Given the description of an element on the screen output the (x, y) to click on. 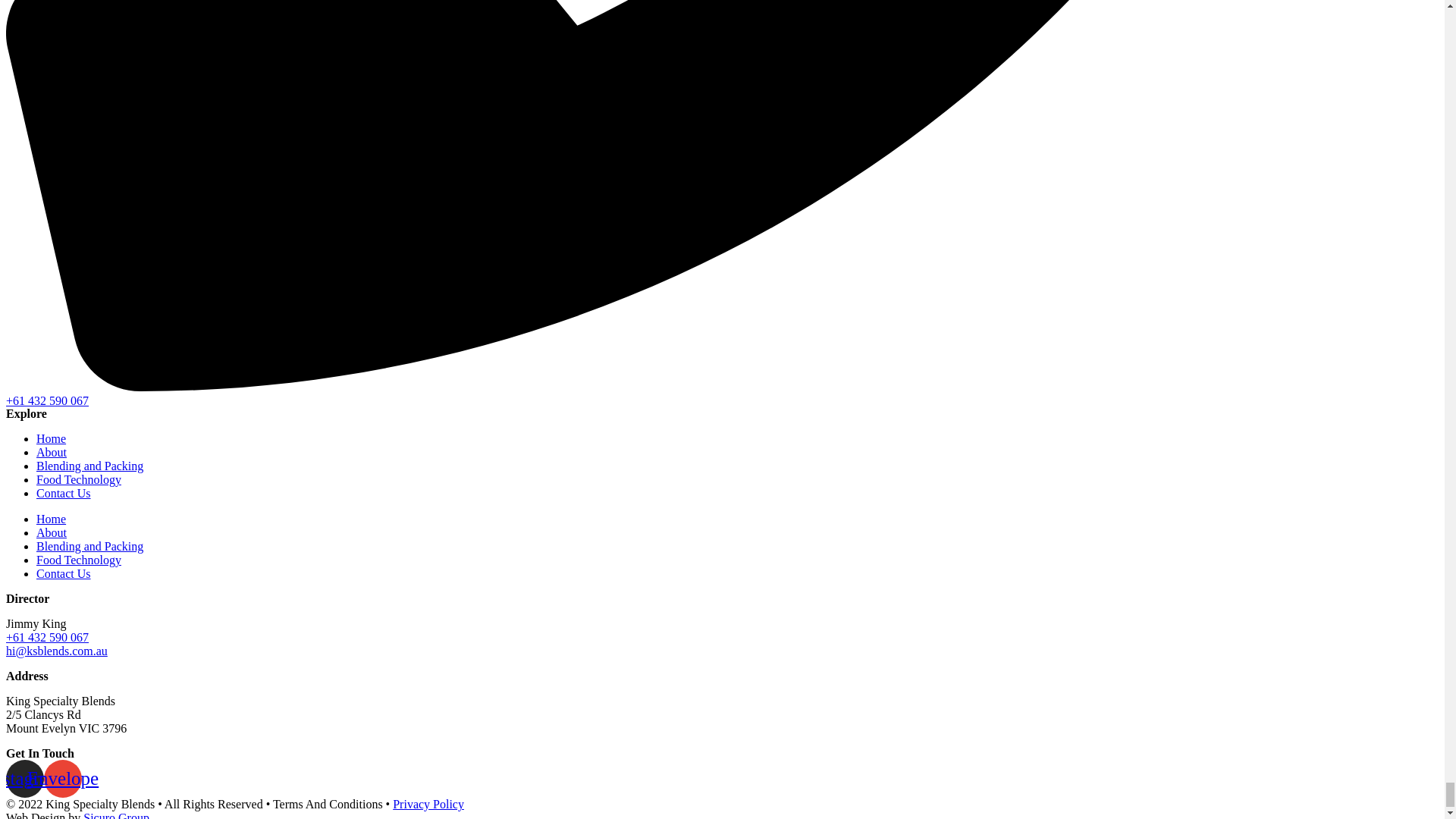
Instagram (24, 778)
About (51, 451)
Contact Us (63, 492)
Home (50, 438)
Blending and Packing (89, 545)
Food Technology (78, 559)
Privacy Policy (428, 803)
About (51, 532)
Envelope (62, 778)
Contact Us (63, 573)
